Given the description of an element on the screen output the (x, y) to click on. 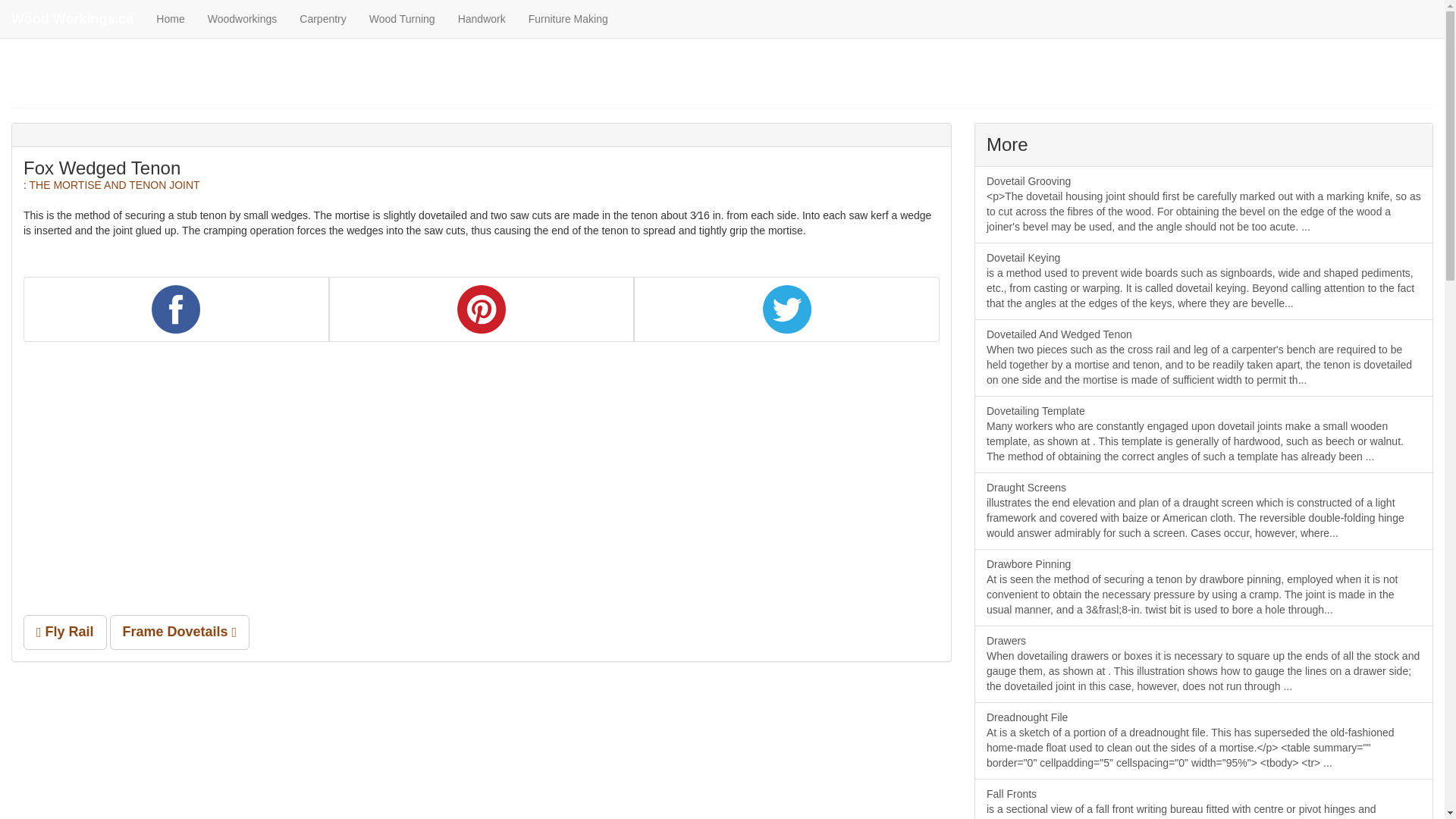
Carpentry (322, 18)
THE MORTISE AND TENON JOINT (114, 184)
Woodworkings (242, 18)
Fly Rail (64, 632)
Handwork (481, 18)
Home (169, 18)
Furniture Making (568, 18)
Frame Dovetails (180, 632)
Wood Turning (402, 18)
Wood Workings.ca (72, 18)
